Given the description of an element on the screen output the (x, y) to click on. 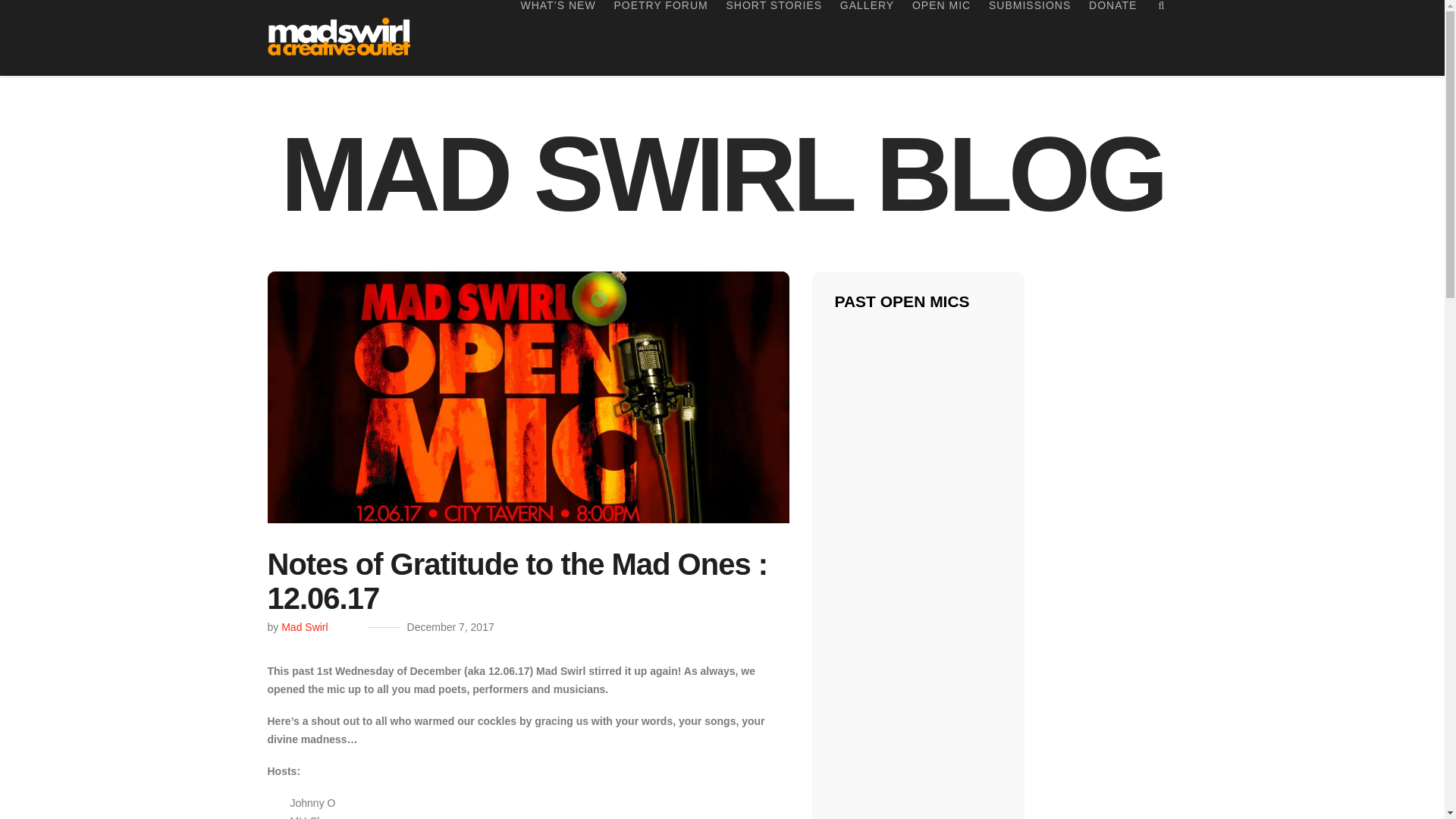
SHORT STORIES (774, 38)
Posts by Mad Swirl (304, 626)
OPEN MIC (940, 38)
GALLERY (866, 38)
Mad Swirl (304, 626)
POETRY FORUM (661, 38)
The whole mad swirl of everything to come begins now! (340, 31)
SUBMISSIONS (1029, 38)
MAD SWIRL BLOG (722, 173)
Blog (722, 173)
